Given the description of an element on the screen output the (x, y) to click on. 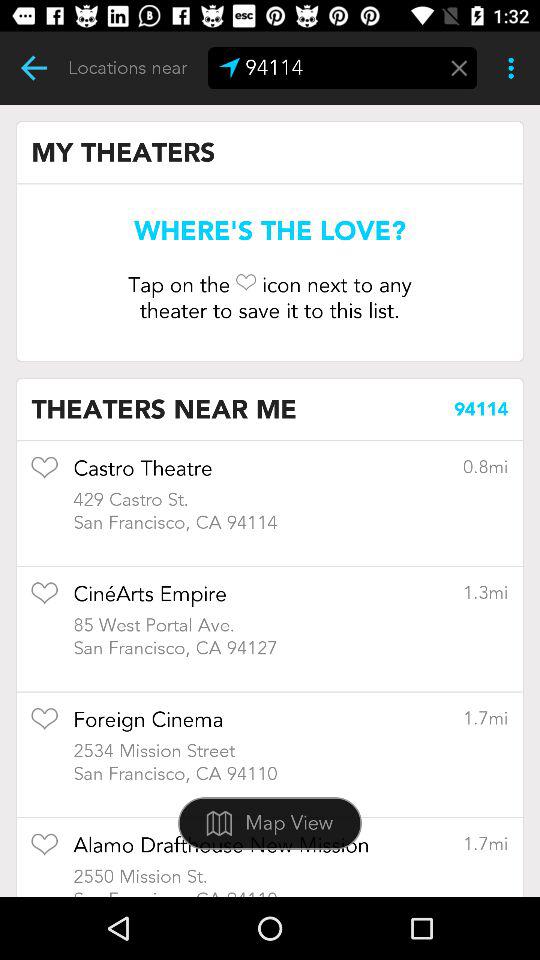
clear zip code (459, 68)
